Given the description of an element on the screen output the (x, y) to click on. 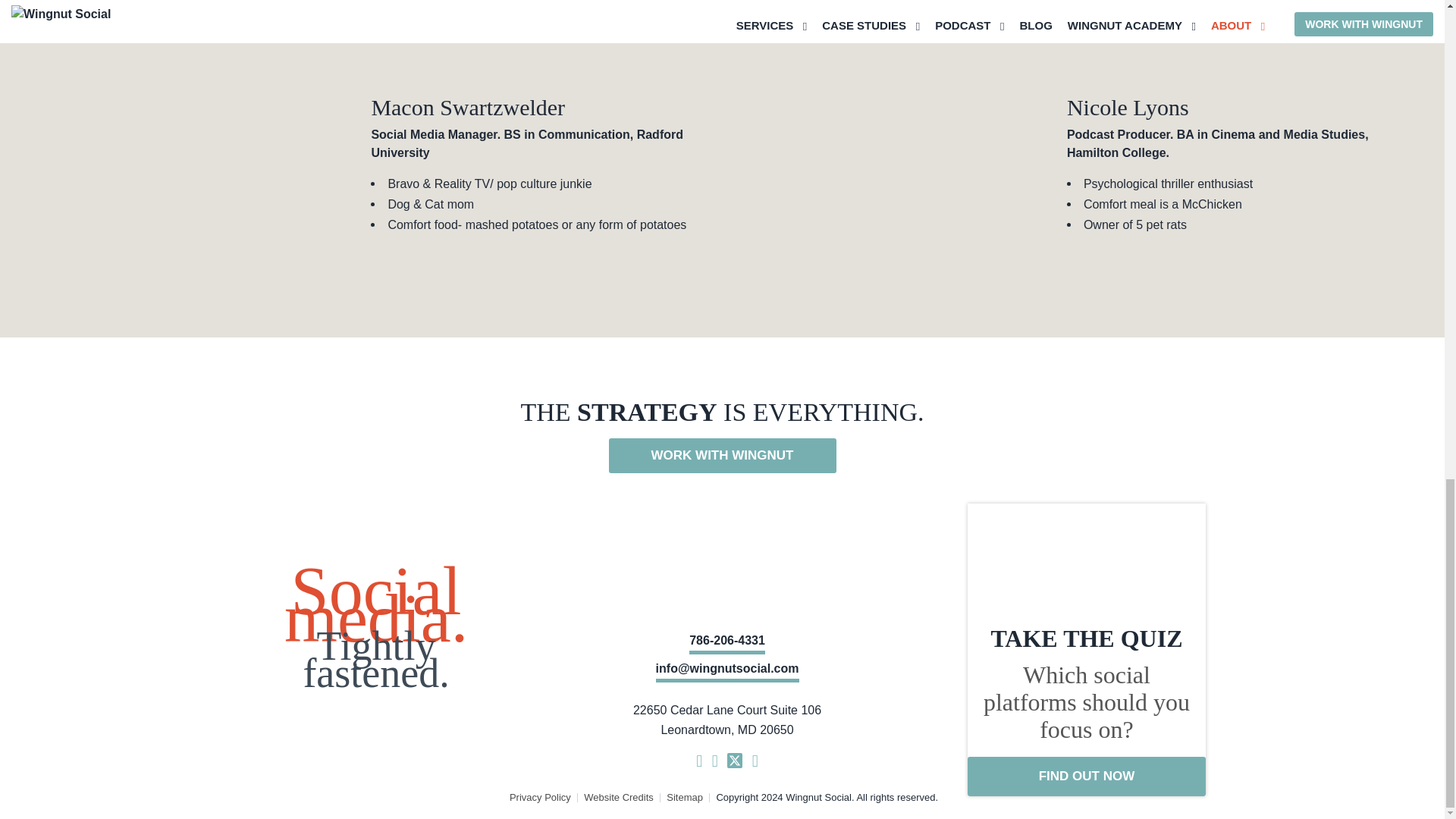
Privacy Policy (539, 797)
Wingnut Social (726, 553)
Website Credits (618, 797)
786-206-4331 (726, 642)
Sitemap (684, 797)
WORK WITH WINGNUT (721, 455)
WORK WITH WINGNUT (721, 455)
Privacy Policy (539, 797)
